Given the description of an element on the screen output the (x, y) to click on. 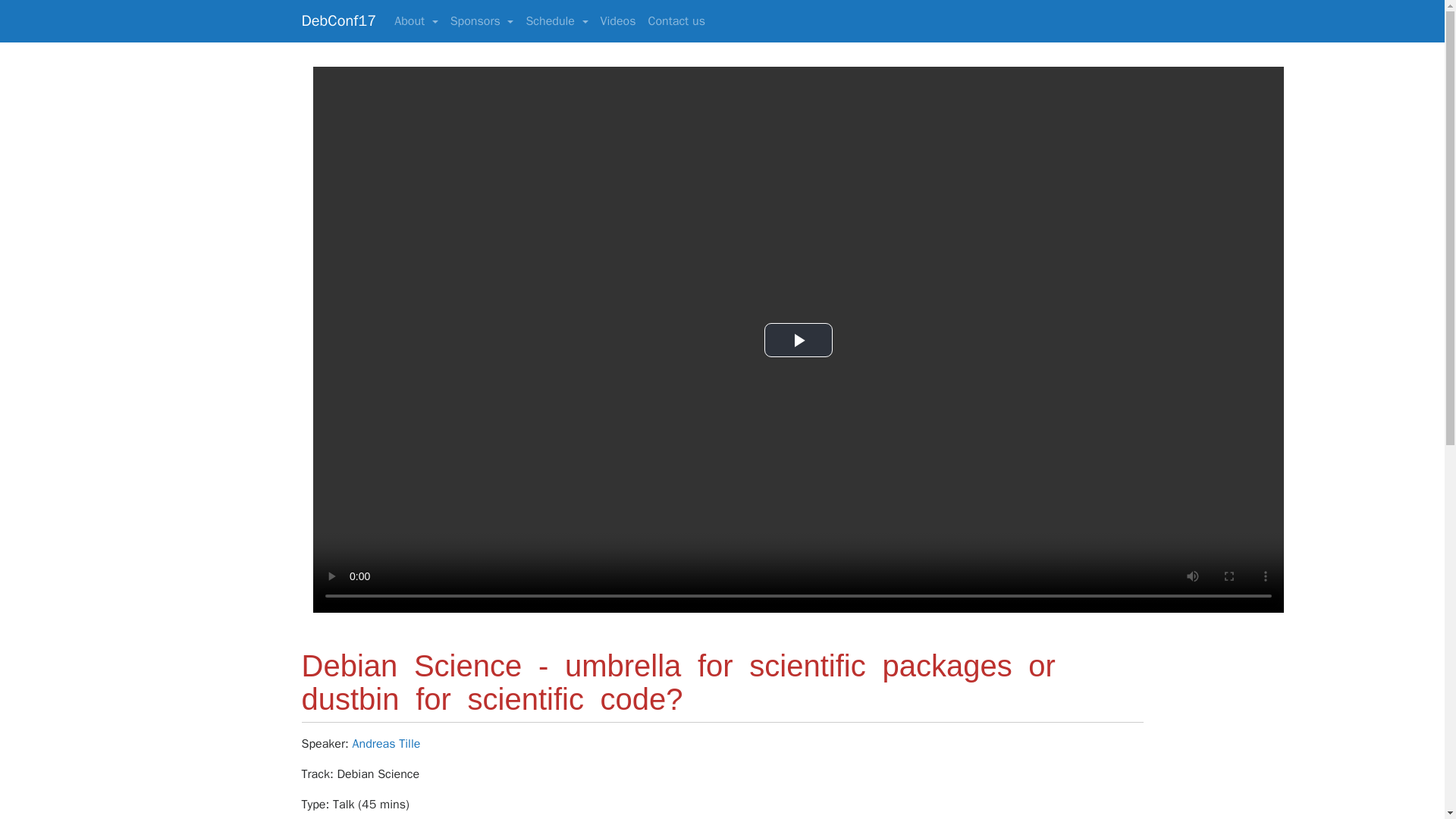
About (416, 20)
Play Video (798, 339)
Videos (618, 20)
Play Video (798, 339)
Andreas Tille (386, 743)
Sponsors (481, 20)
Contact us (676, 20)
DebConf17 (339, 21)
Schedule (556, 20)
